Given the description of an element on the screen output the (x, y) to click on. 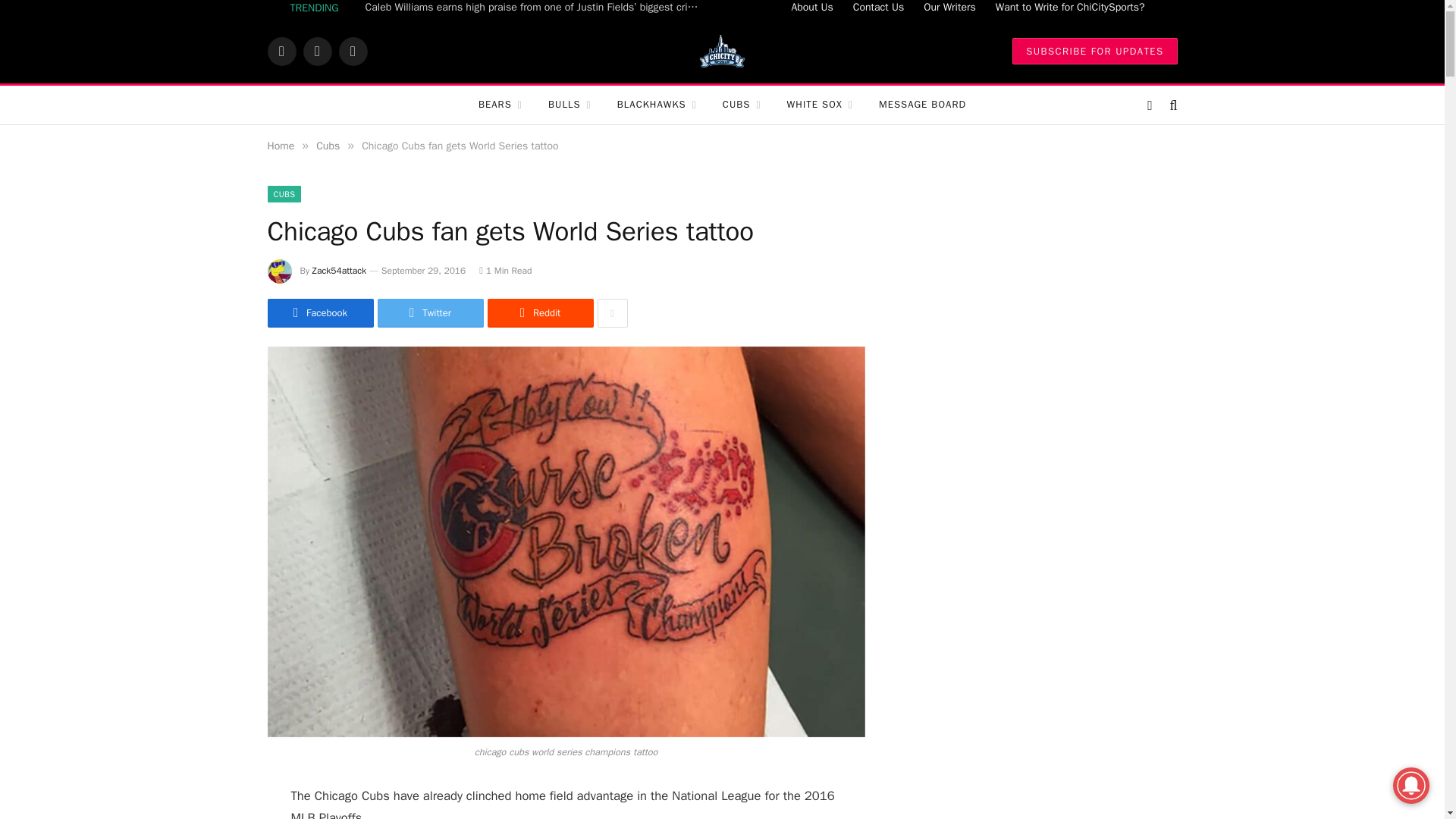
Share on Facebook (319, 312)
Show More Social Sharing (611, 312)
Posts by Zack54attack (339, 270)
Share on Twitter (430, 312)
Share on Reddit (539, 312)
Switch to Dark Design - easier on eyes. (1149, 105)
